Given the description of an element on the screen output the (x, y) to click on. 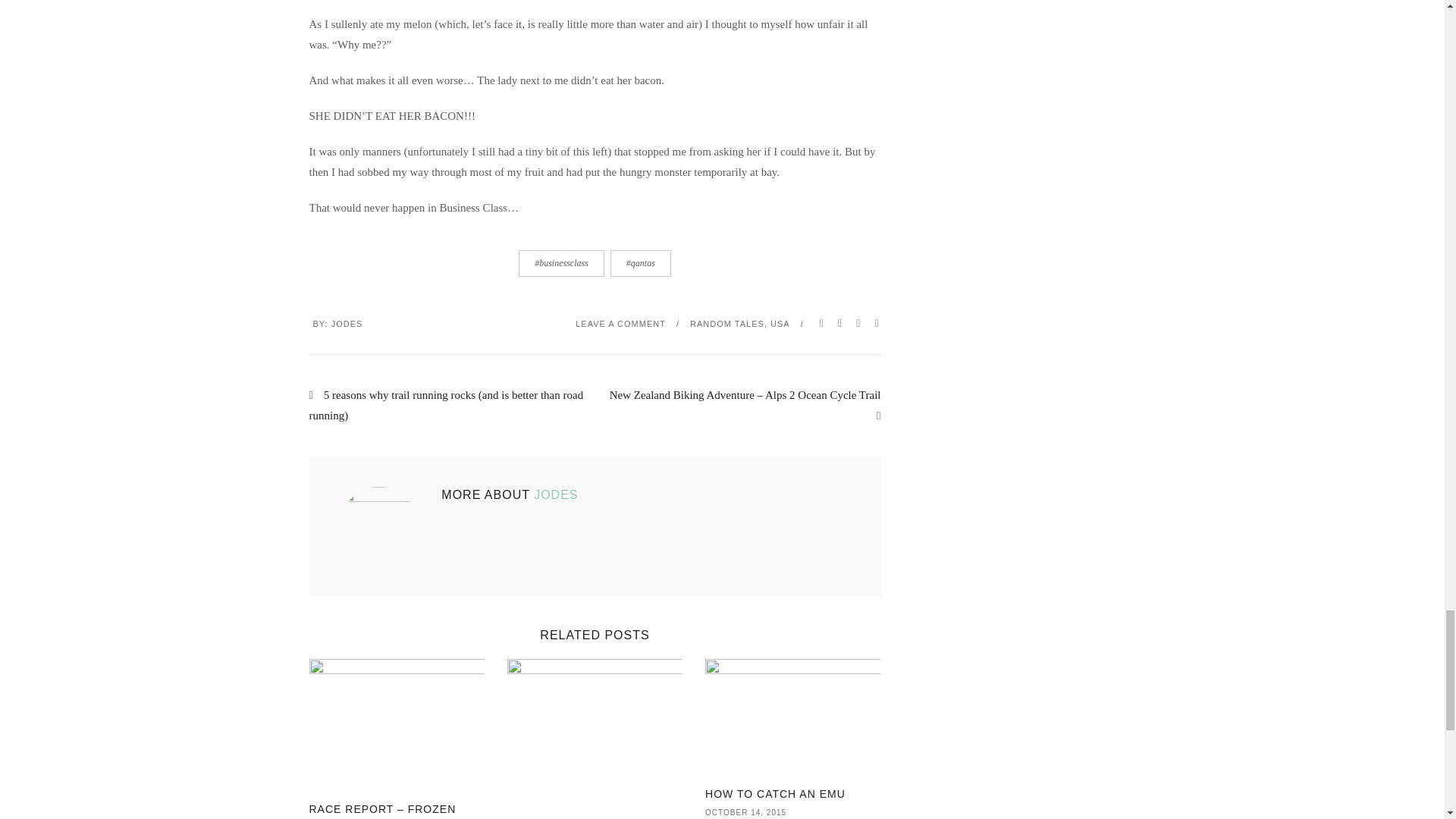
RANDOM TALES (727, 323)
LEAVE A COMMENT (620, 323)
Posts by Jodes (346, 323)
USA (780, 323)
JODES (346, 323)
